Given the description of an element on the screen output the (x, y) to click on. 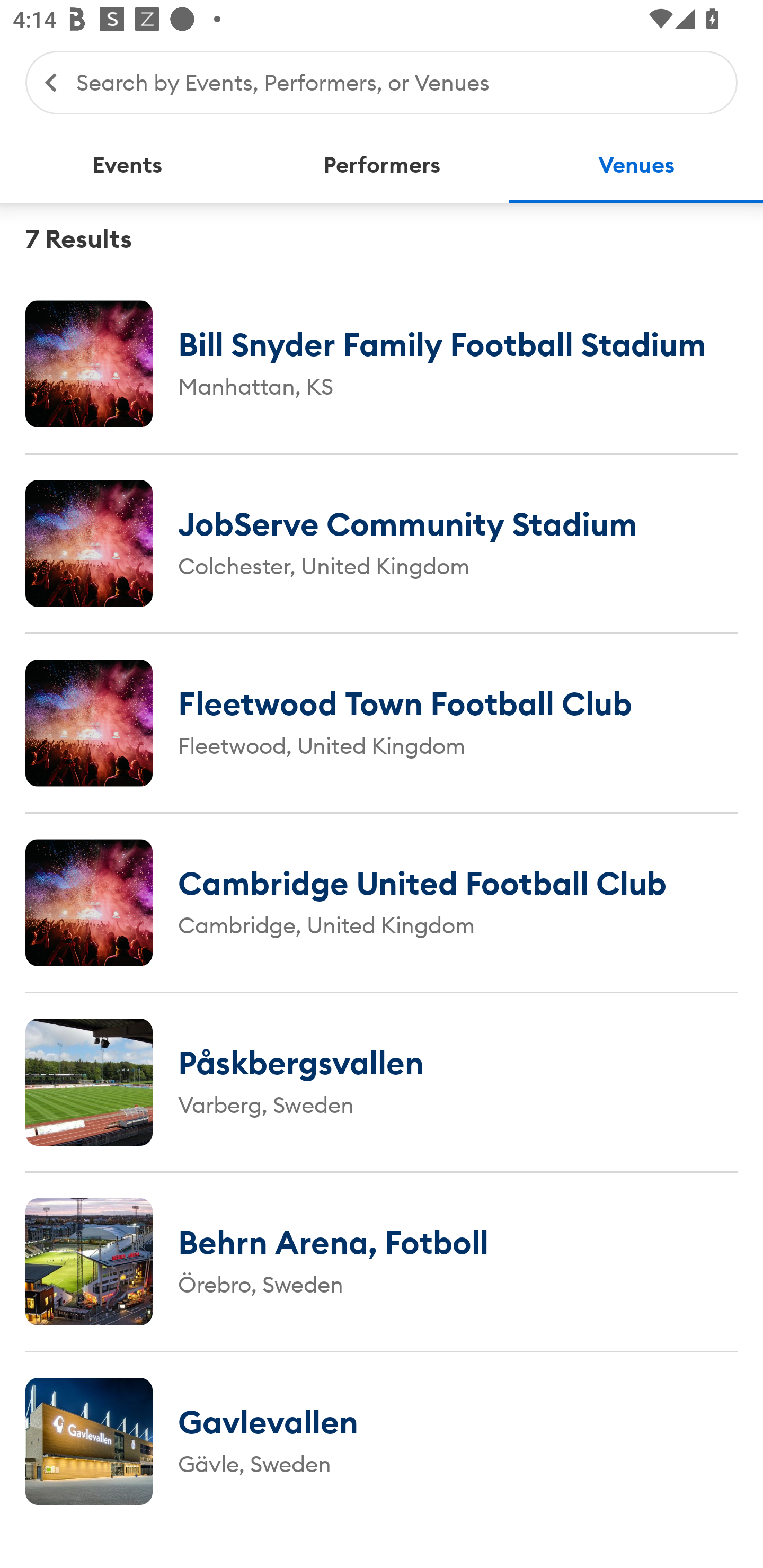
Events (127, 165)
Performers (381, 165)
Bill Snyder Family Football Stadium Manhattan, KS (381, 363)
Påskbergsvallen Varberg, Sweden (381, 1081)
Behrn Arena, Fotboll Örebro, Sweden (381, 1261)
Gavlevallen Gävle, Sweden (381, 1440)
